Given the description of an element on the screen output the (x, y) to click on. 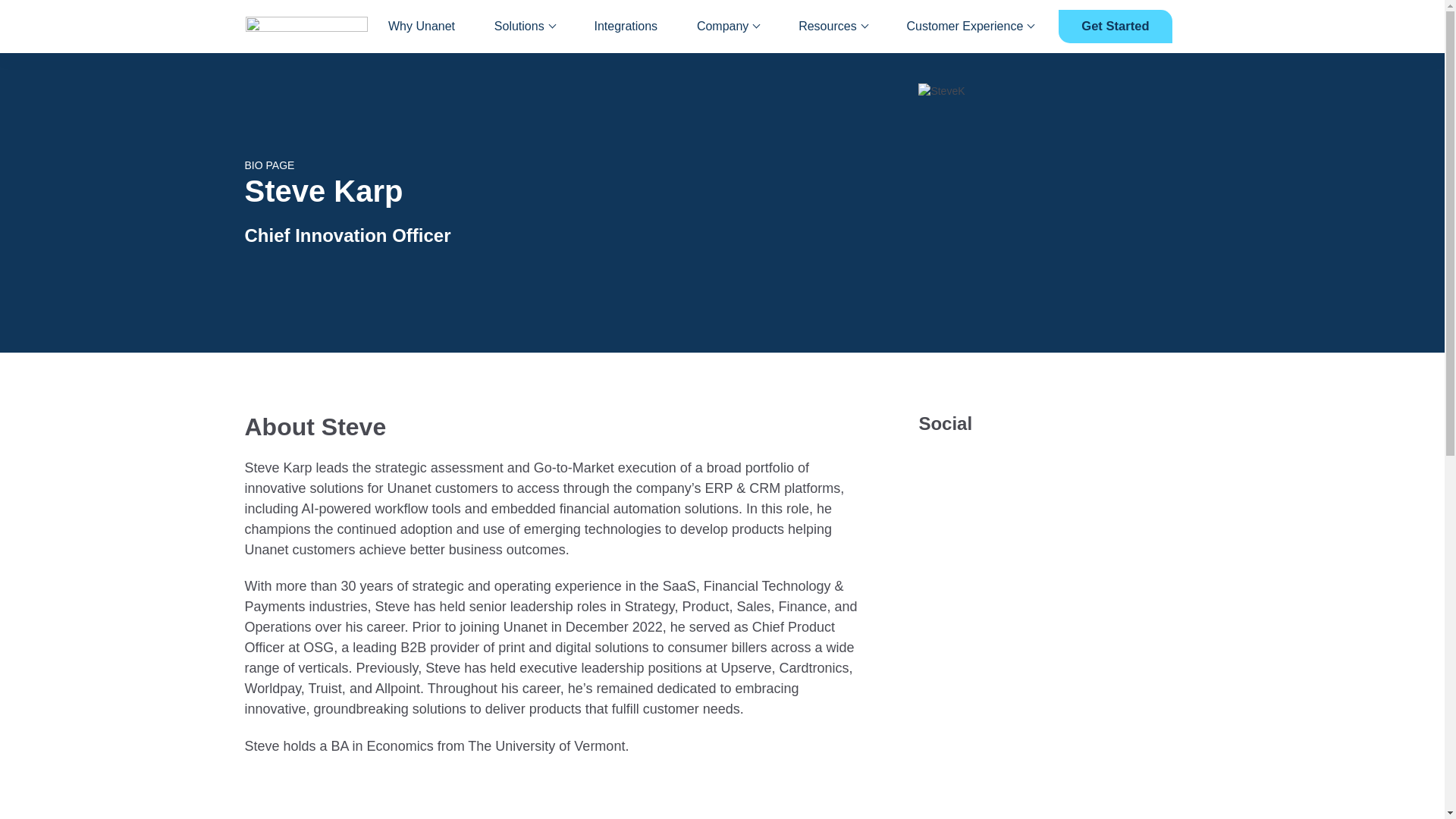
Integrations (626, 26)
Resources (831, 26)
Company (727, 26)
Solutions (524, 26)
Why Unanet (421, 26)
